Given the description of an element on the screen output the (x, y) to click on. 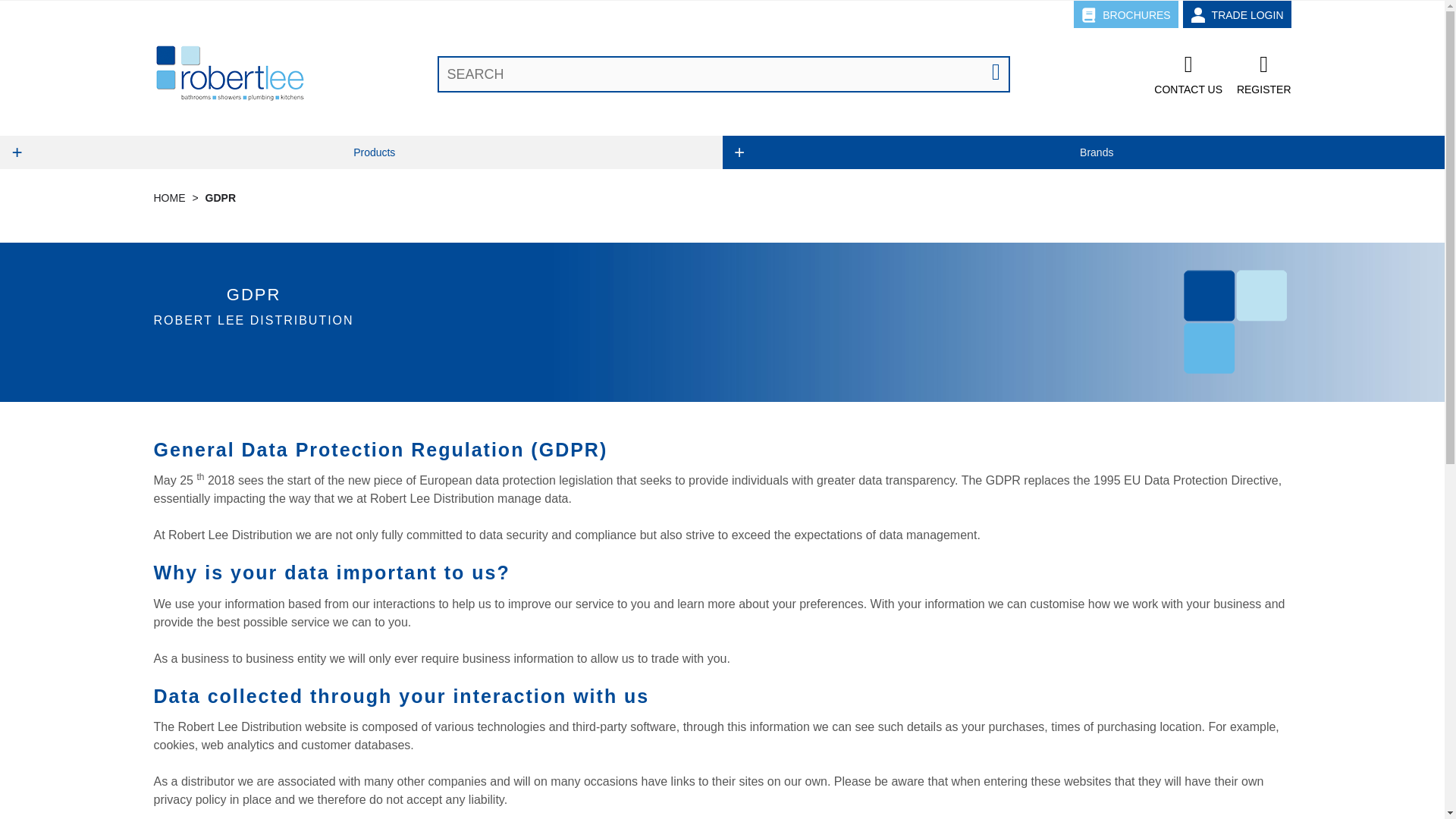
TRADE LOGIN (1236, 13)
Welcome To Robert Lee (228, 73)
please fill in this field. (724, 74)
BROCHURES (1125, 13)
